Given the description of an element on the screen output the (x, y) to click on. 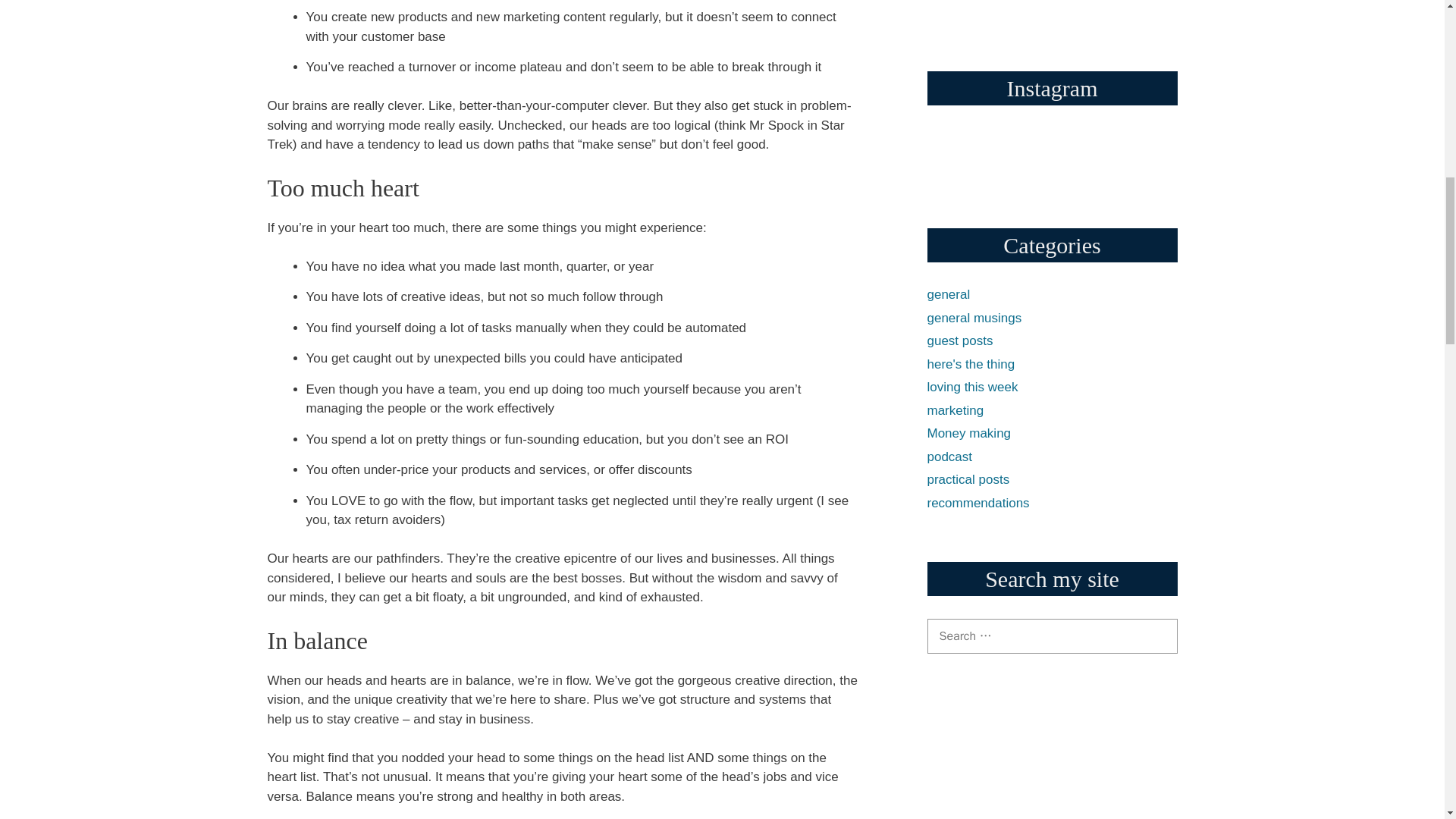
general (947, 294)
marketing (955, 410)
Search for: (1051, 636)
general musings (974, 318)
here's the thing (970, 363)
loving this week (971, 386)
guest posts (959, 340)
